Given the description of an element on the screen output the (x, y) to click on. 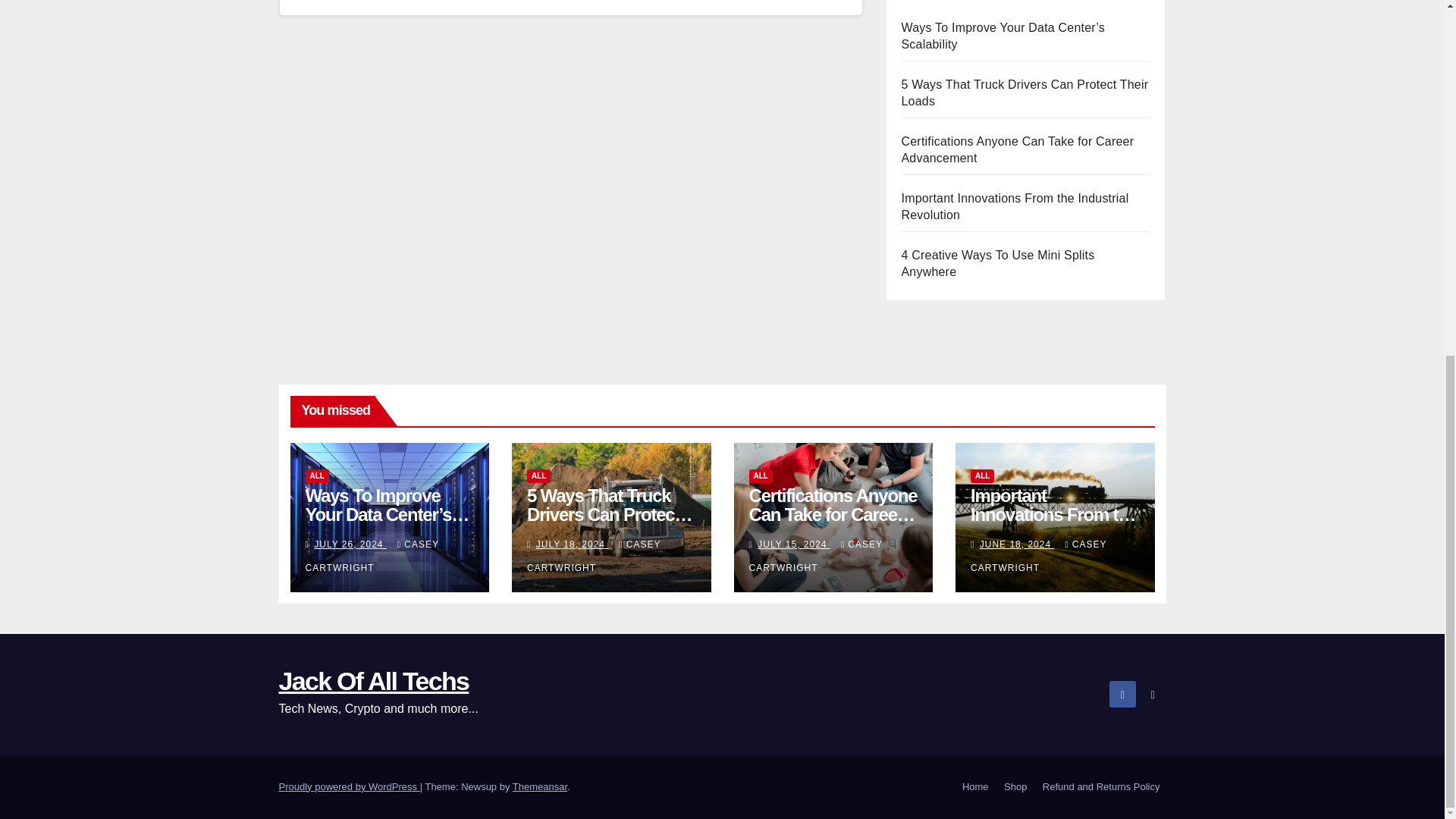
ALL (538, 483)
CASEY CARTWRIGHT (371, 563)
ALL (761, 483)
Permalink to: How To Measure the Success of Your Live Event (609, 522)
5 Ways That Truck Drivers Can Protect Their Loads (1024, 229)
5 Ways To Test Your Soil Before You Build a Project (1021, 58)
ALL (316, 483)
JULY 26, 2024 (793, 552)
JULY 31, 2024 (350, 552)
JULY 31, 2024 (571, 552)
Certifications Anyone Can Take for Career Advancement (1017, 286)
CASEY CARTWRIGHT (594, 563)
Refund and Returns Policy (1101, 786)
5 Ways To Test Your Soil Before You Build a Project (387, 522)
